Given the description of an element on the screen output the (x, y) to click on. 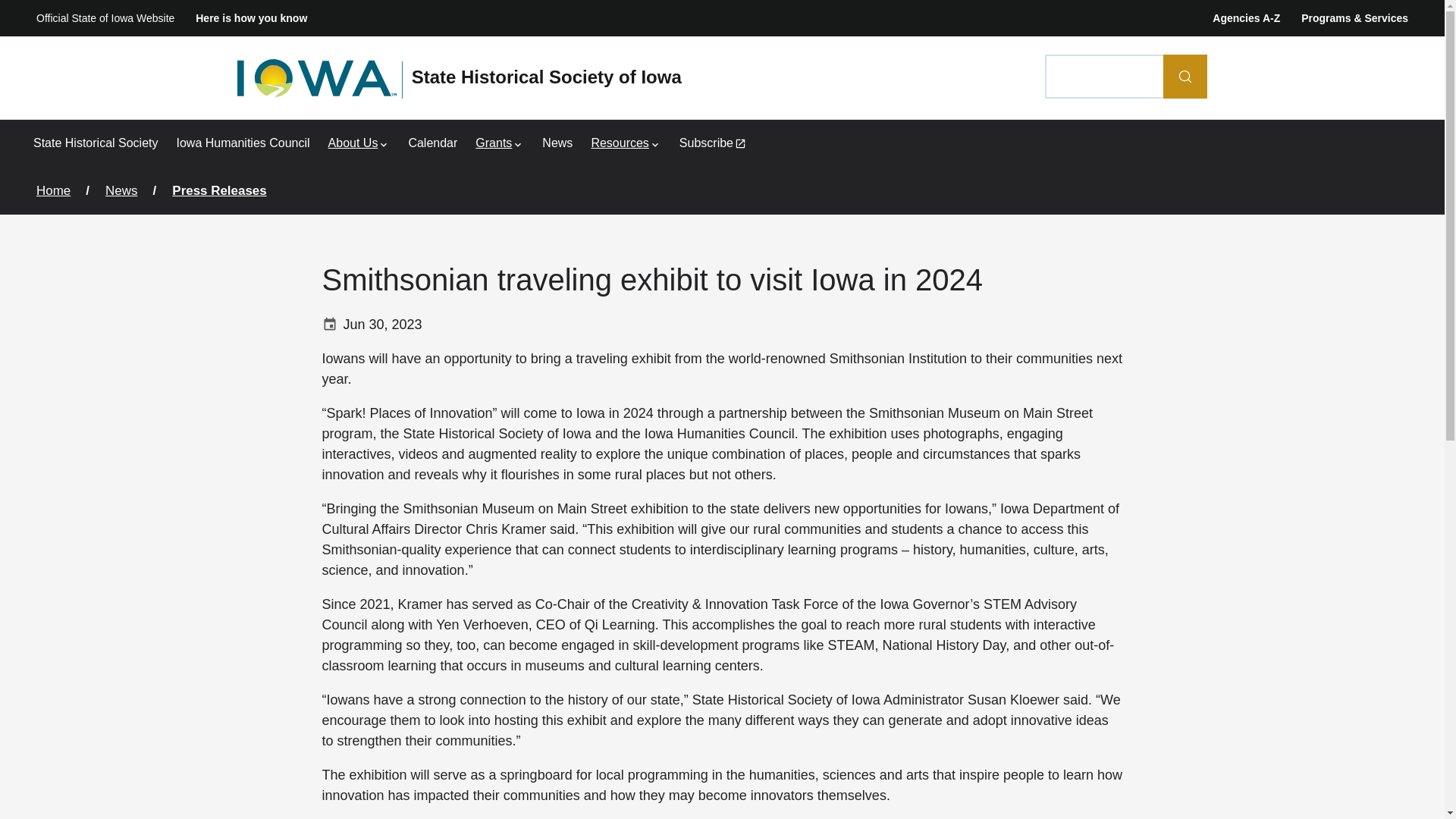
Skip to main content (15, 21)
Subscribe (712, 143)
Enter the terms you wish to search for. (1104, 76)
Calendar (431, 143)
Iowa Humanities Council (242, 143)
Here is how you know (251, 18)
Follow Produce Iowa on Facebook (1372, 792)
News (556, 143)
Follow Iowa Arts Council on Twitter (1407, 734)
Follow Iowa Department of Cultural Affairs on Facebook (1372, 705)
Search Icon (1185, 76)
Follow Iowa Arts Council on Facebook (1372, 734)
News (556, 143)
State Historical Society (95, 143)
Follow State Historical Society of Iowa on Facebook (1372, 763)
